Given the description of an element on the screen output the (x, y) to click on. 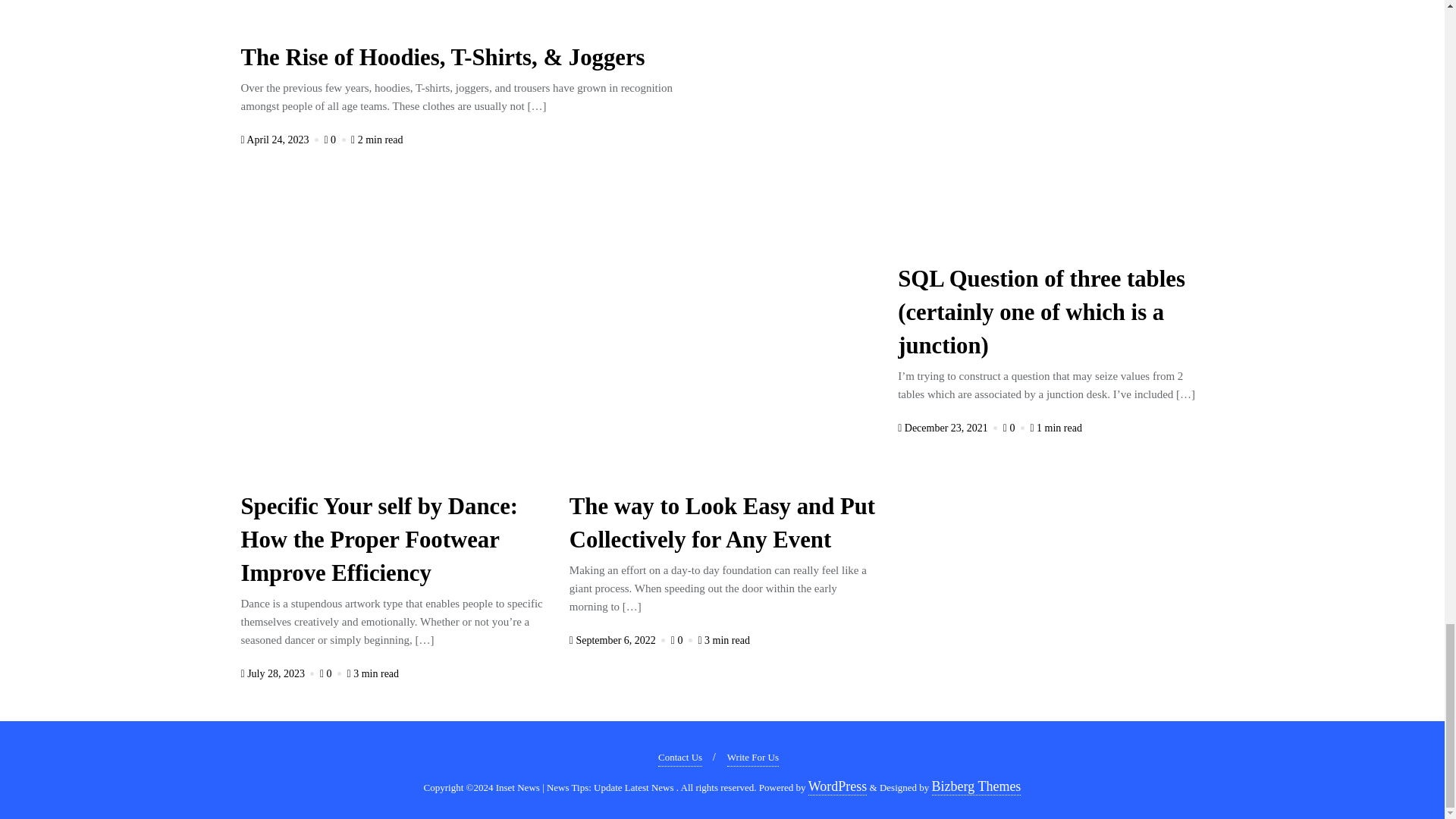
April 24, 2023 (281, 139)
2 min read (376, 139)
0 (683, 640)
September 6, 2022 (618, 640)
The way to Look Easy and Put Collectively for Any Event (722, 525)
3 min read (723, 640)
July 28, 2023 (279, 673)
0 (331, 673)
0 (335, 139)
